Given the description of an element on the screen output the (x, y) to click on. 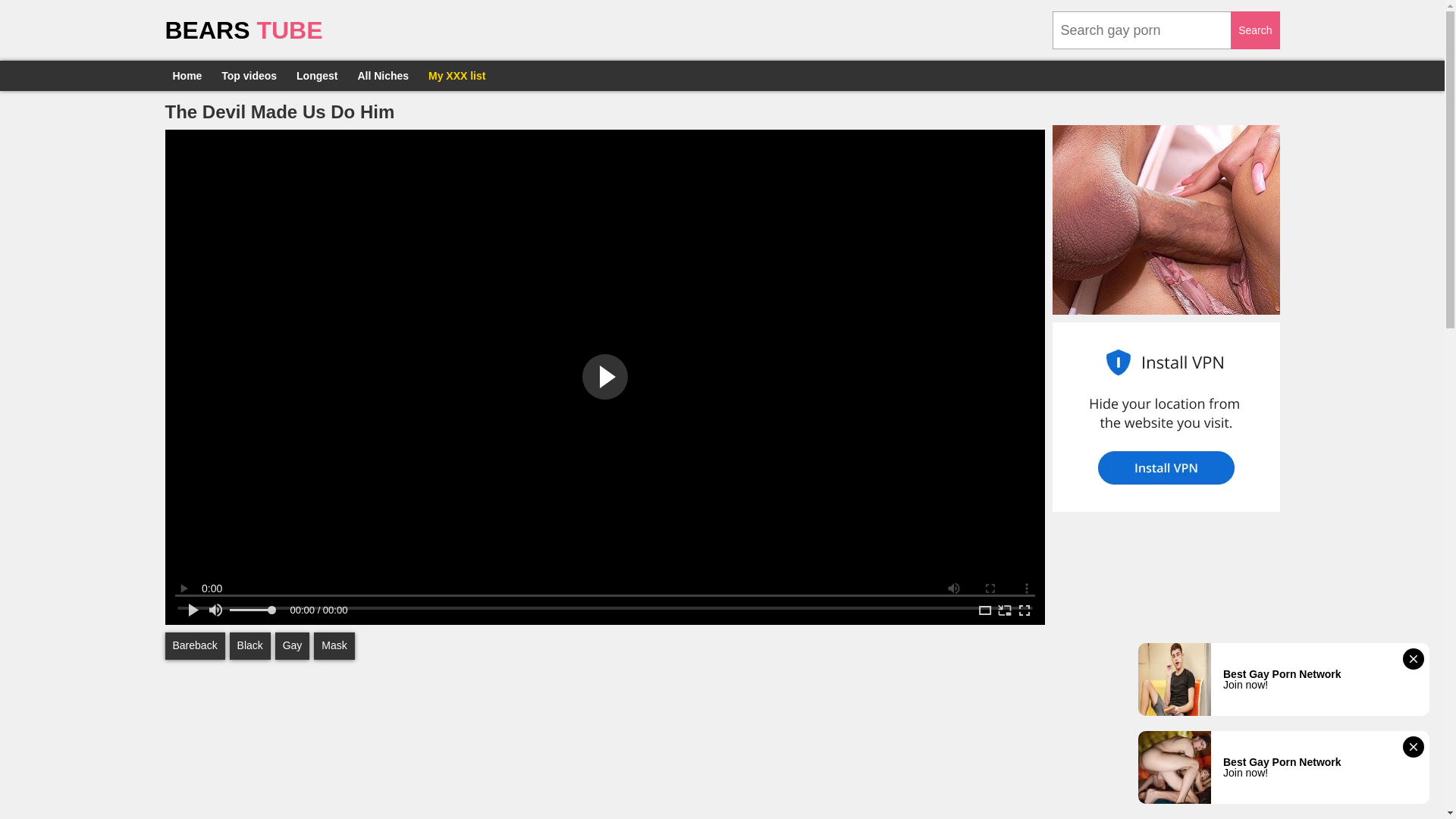
Black (250, 646)
My XXX list (456, 75)
Bareback (195, 646)
BEARS TUBE (244, 30)
Longest (316, 75)
Gay (292, 646)
offer (906, 508)
Mask (333, 646)
All Niches (382, 75)
Home (187, 75)
Search (1254, 30)
Search (1254, 30)
Search (1254, 30)
Top videos (248, 75)
